Given the description of an element on the screen output the (x, y) to click on. 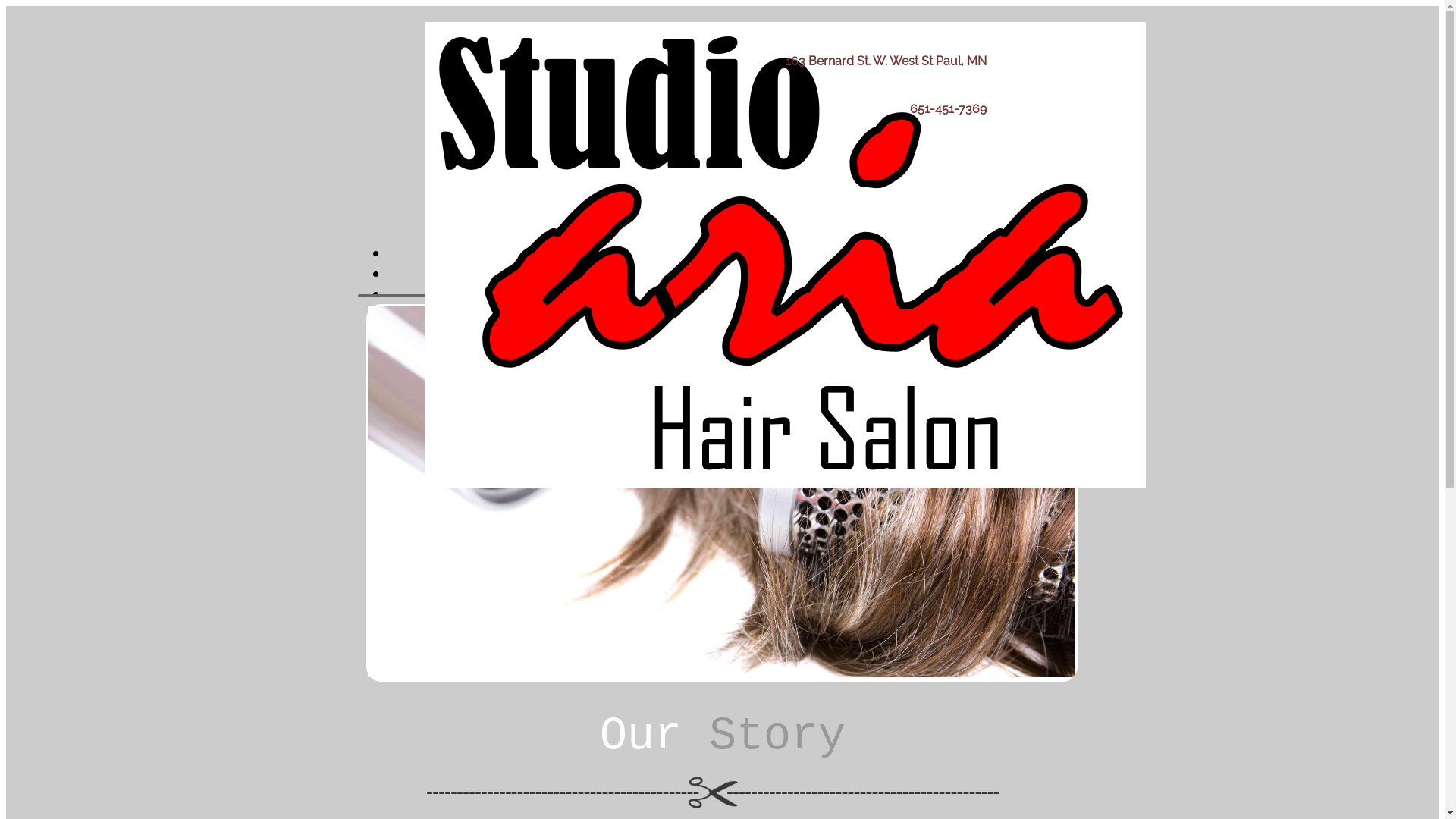
SERVICES Element type: text (483, 294)
ABOUT Element type: text (467, 273)
HOME Element type: text (462, 253)
CONTACT Element type: text (478, 314)
